Given the description of an element on the screen output the (x, y) to click on. 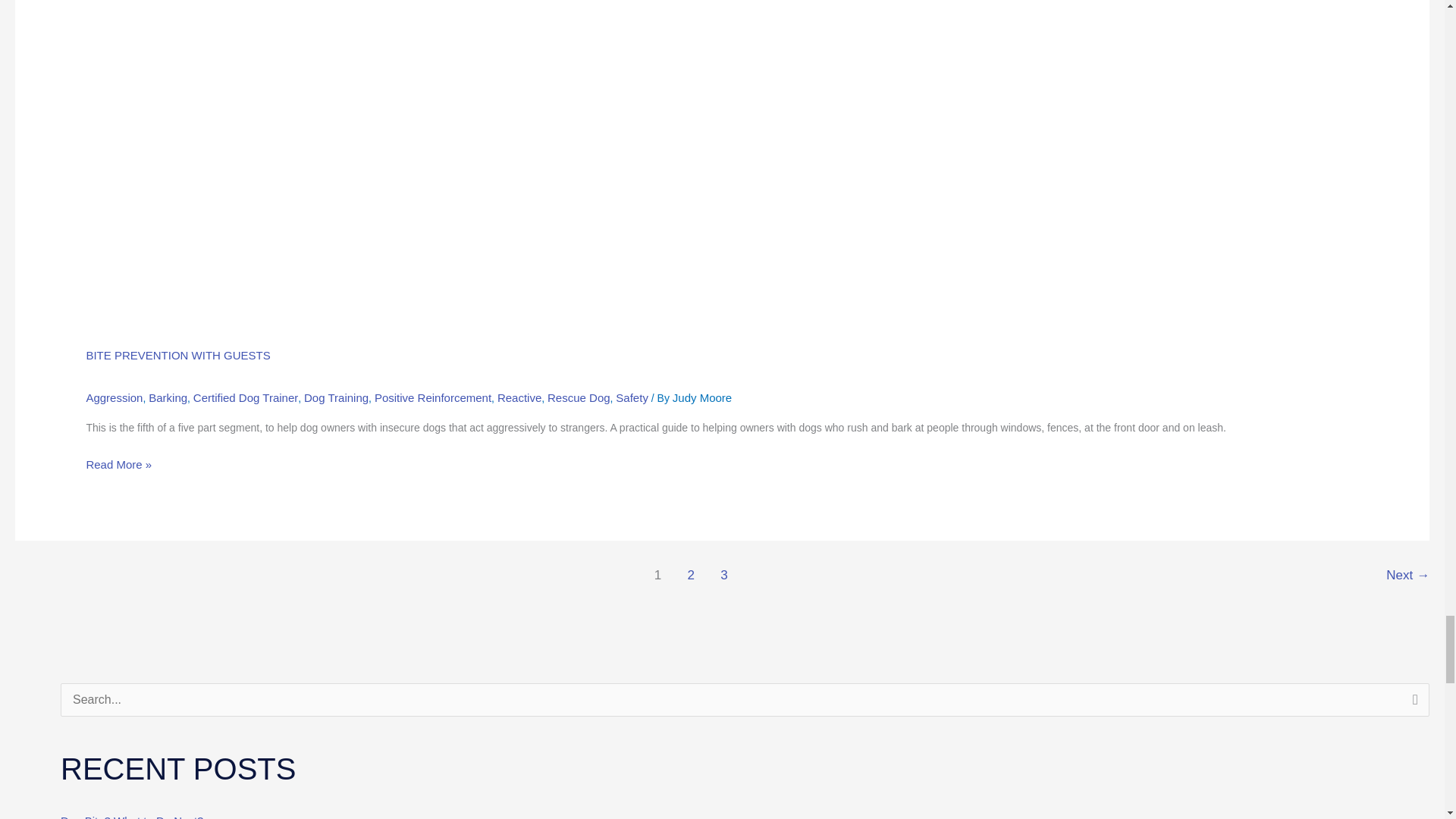
View all posts by Judy Moore (702, 397)
